Given the description of an element on the screen output the (x, y) to click on. 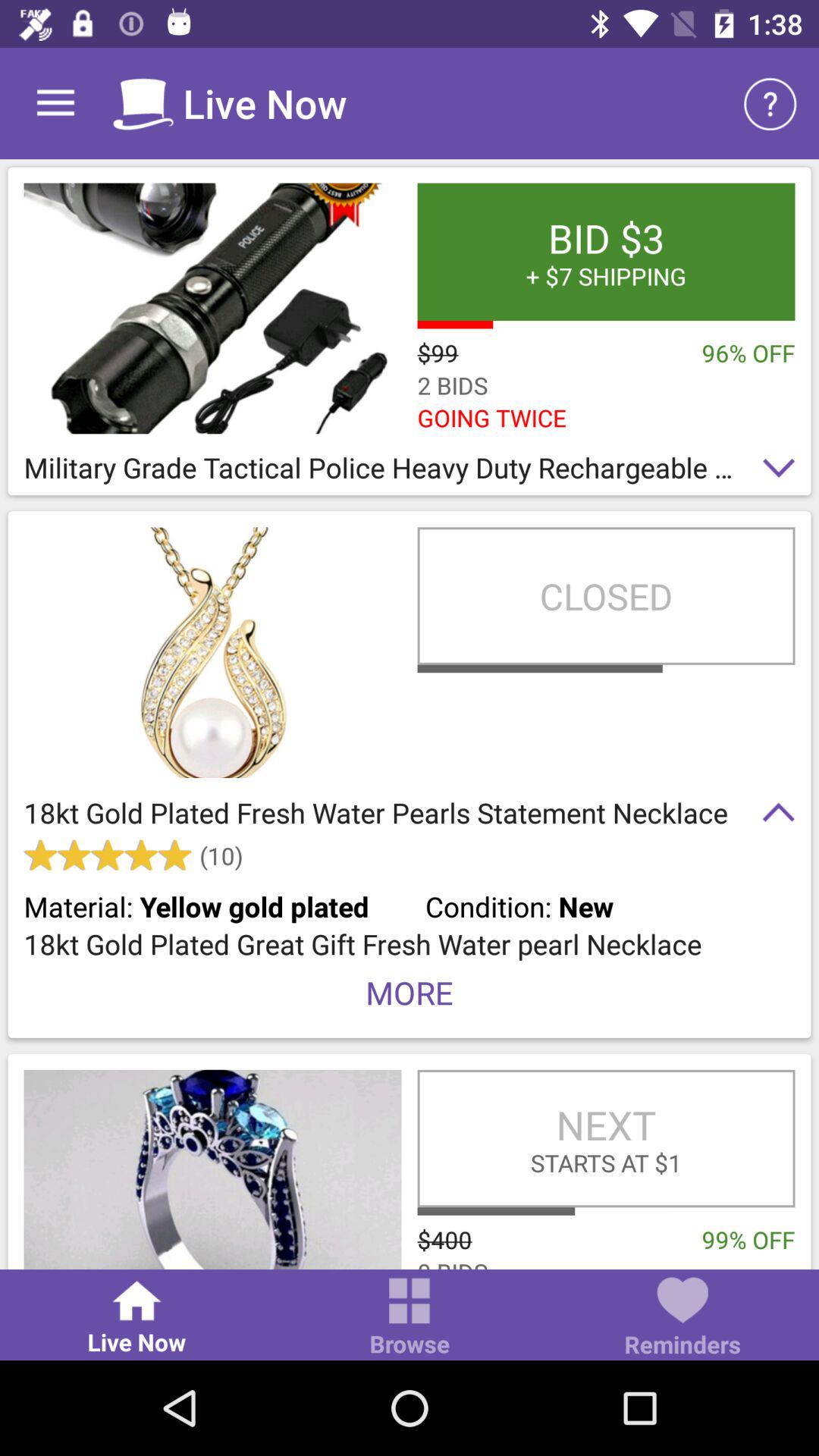
click the product (212, 1169)
